Given the description of an element on the screen output the (x, y) to click on. 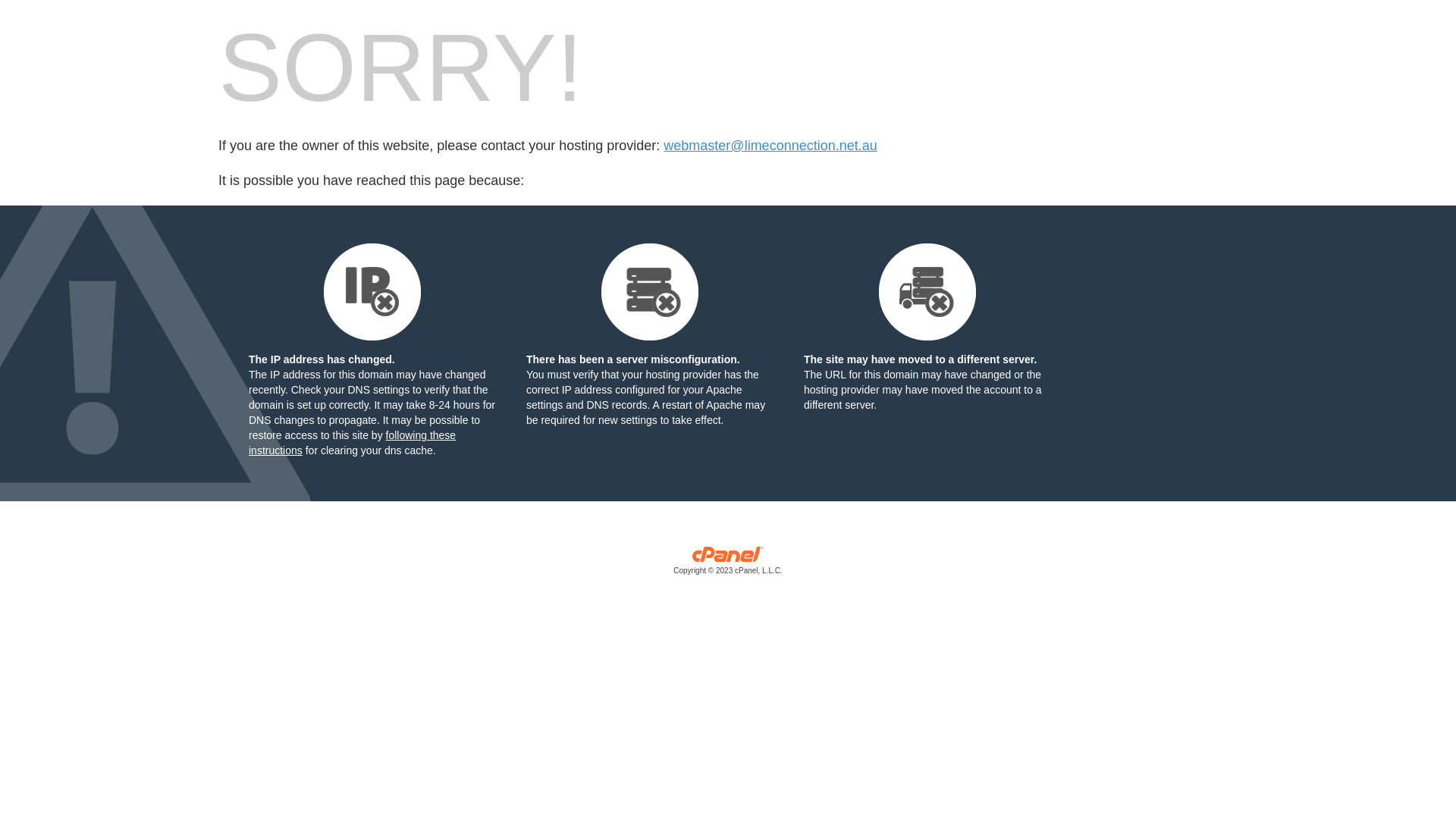
following these instructions Element type: text (351, 442)
webmaster@limeconnection.net.au Element type: text (769, 145)
